Given the description of an element on the screen output the (x, y) to click on. 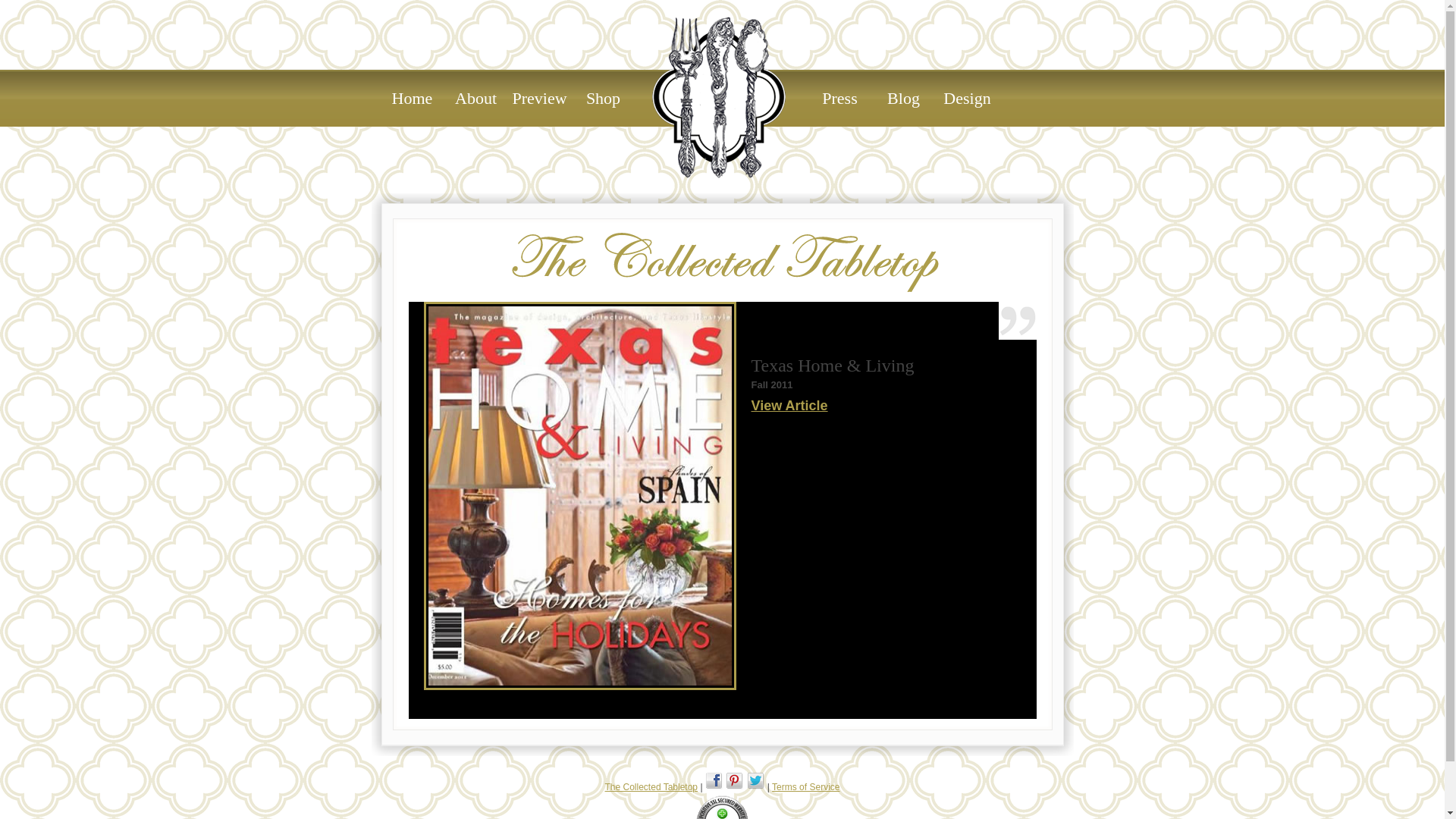
Press (840, 98)
Terms of Service (805, 787)
About (476, 98)
Design (967, 98)
The Collected Tabletop (651, 787)
View Article (789, 405)
Home (412, 98)
Preview (540, 98)
The Collected Tabletop (651, 787)
Shop (603, 98)
The Collected Tabletop (718, 96)
Blog (904, 98)
